Given the description of an element on the screen output the (x, y) to click on. 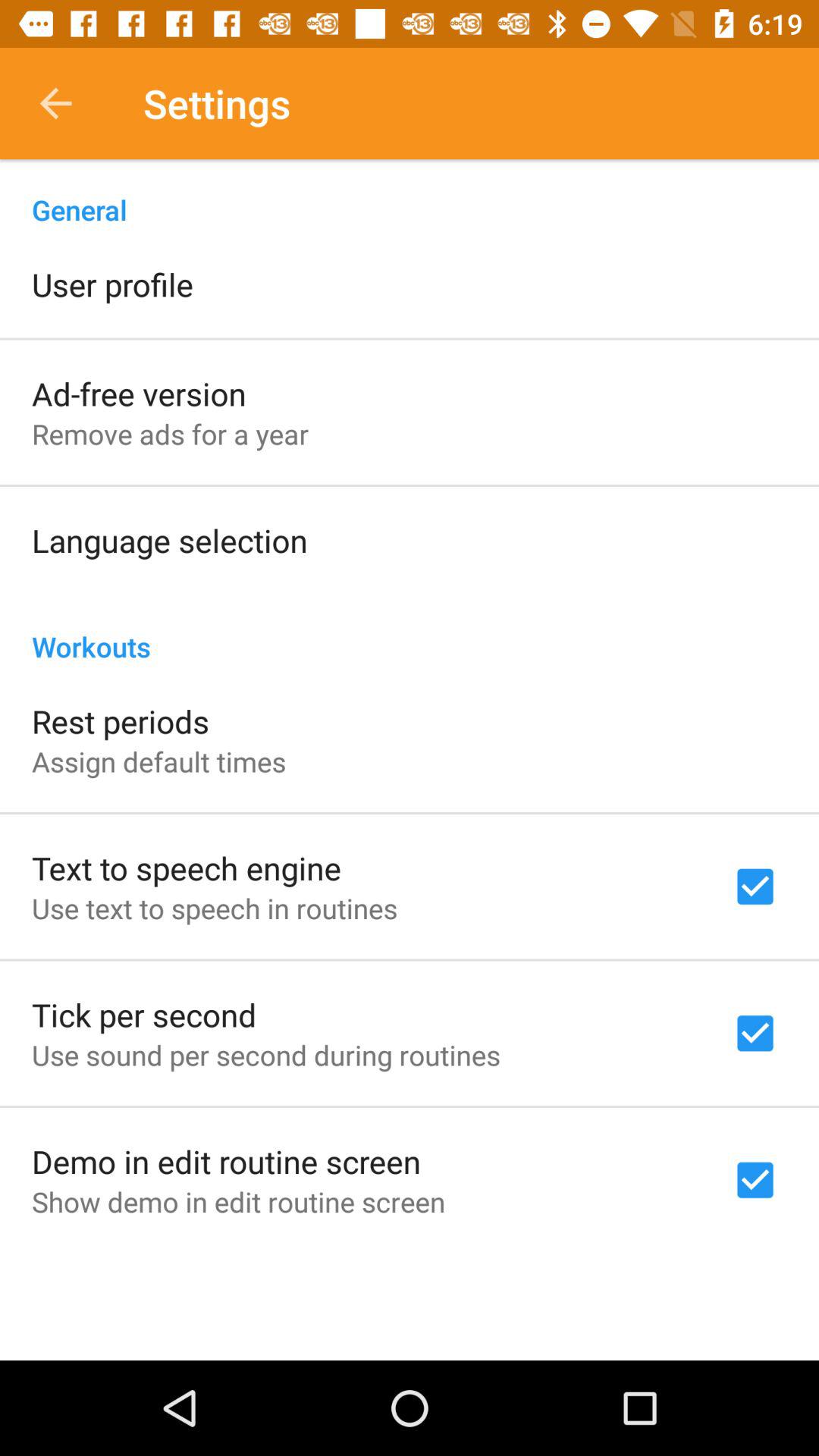
open item to the left of the settings (55, 103)
